Given the description of an element on the screen output the (x, y) to click on. 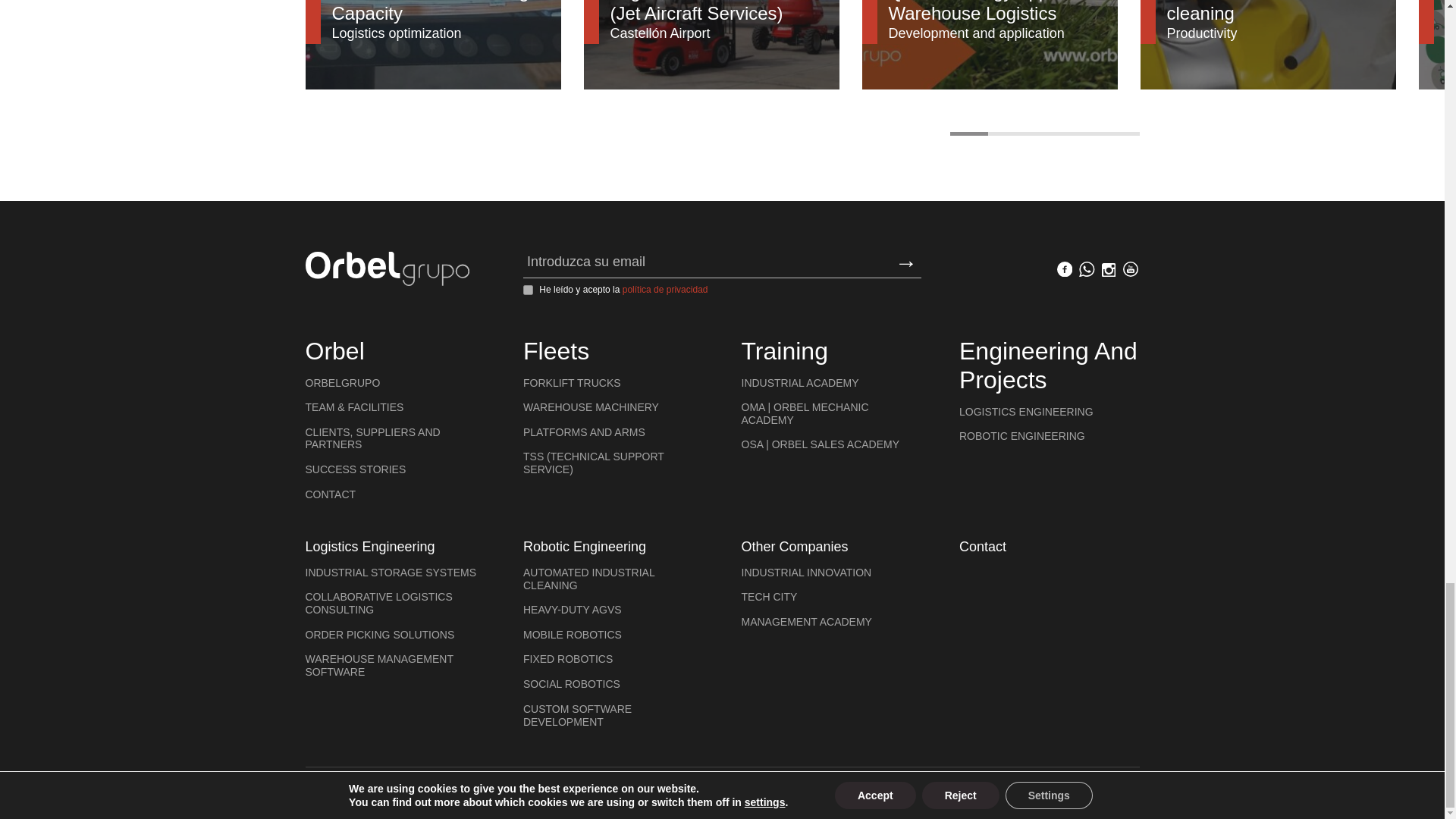
CONTACT (329, 494)
Instagram (1109, 272)
1 (527, 289)
FORKLIFT TRUCKS (571, 382)
4 (1081, 133)
SUCCESS STORIES (355, 469)
3 (1043, 133)
5 (1119, 133)
whatsapp (1086, 272)
Orbel (334, 350)
facebook (1064, 272)
ORBELGRUPO (342, 382)
1 (968, 133)
